Given the description of an element on the screen output the (x, y) to click on. 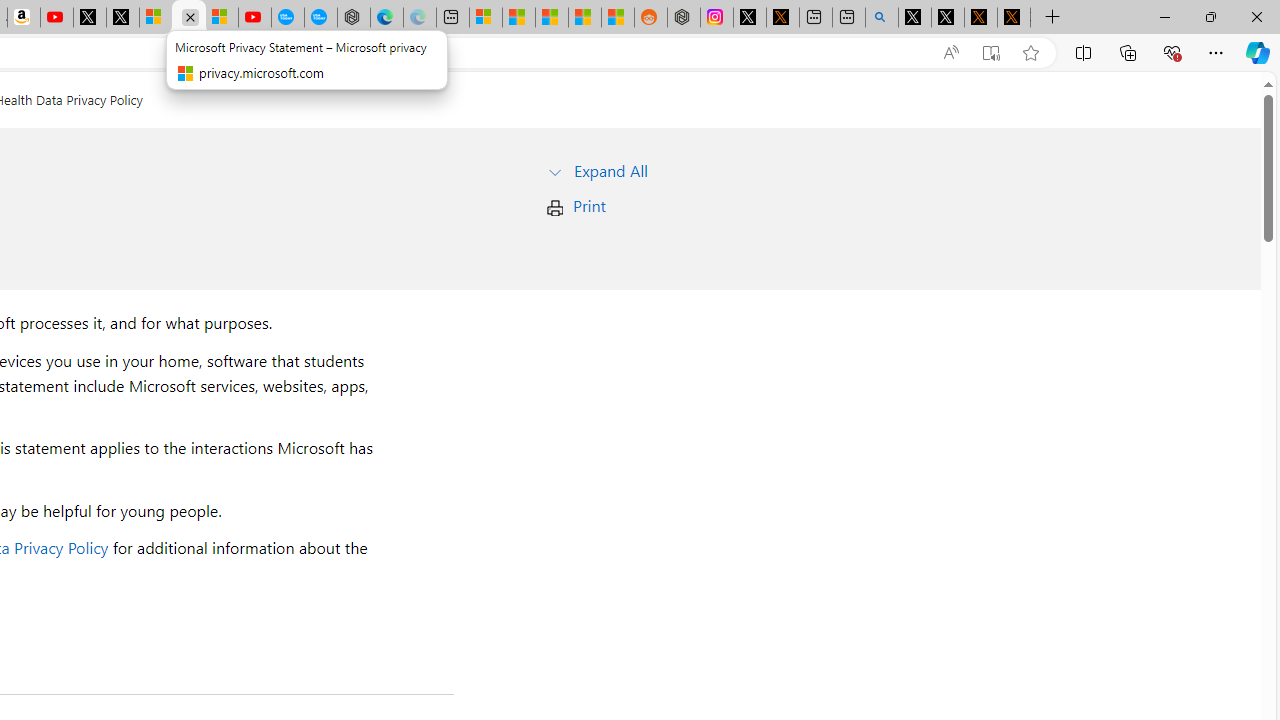
Opinion: Op-Ed and Commentary - USA TODAY (287, 17)
X Privacy Policy (1014, 17)
Shanghai, China hourly forecast | Microsoft Weather (552, 17)
